Given the description of an element on the screen output the (x, y) to click on. 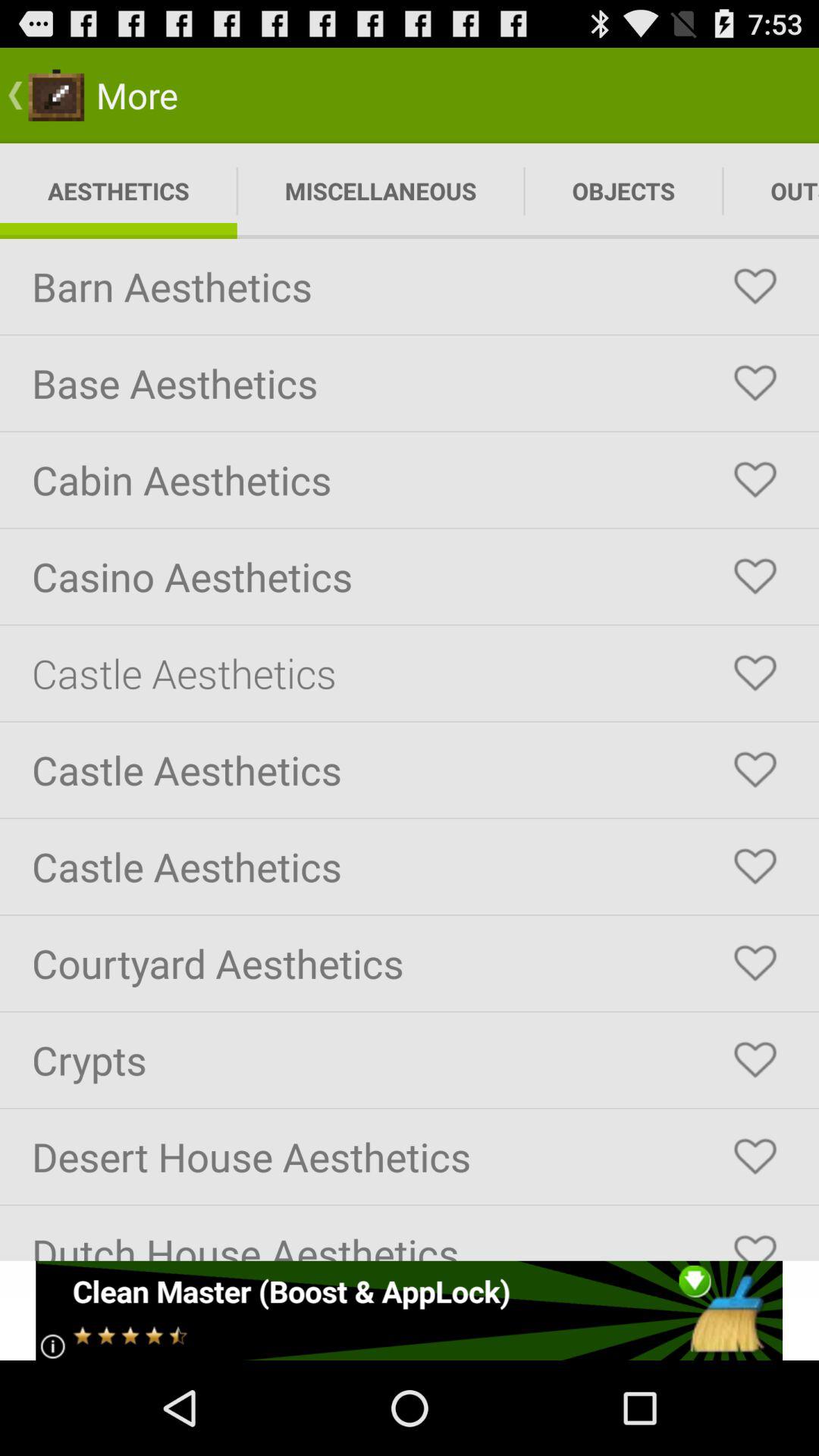
toggle favorite (755, 576)
